Given the description of an element on the screen output the (x, y) to click on. 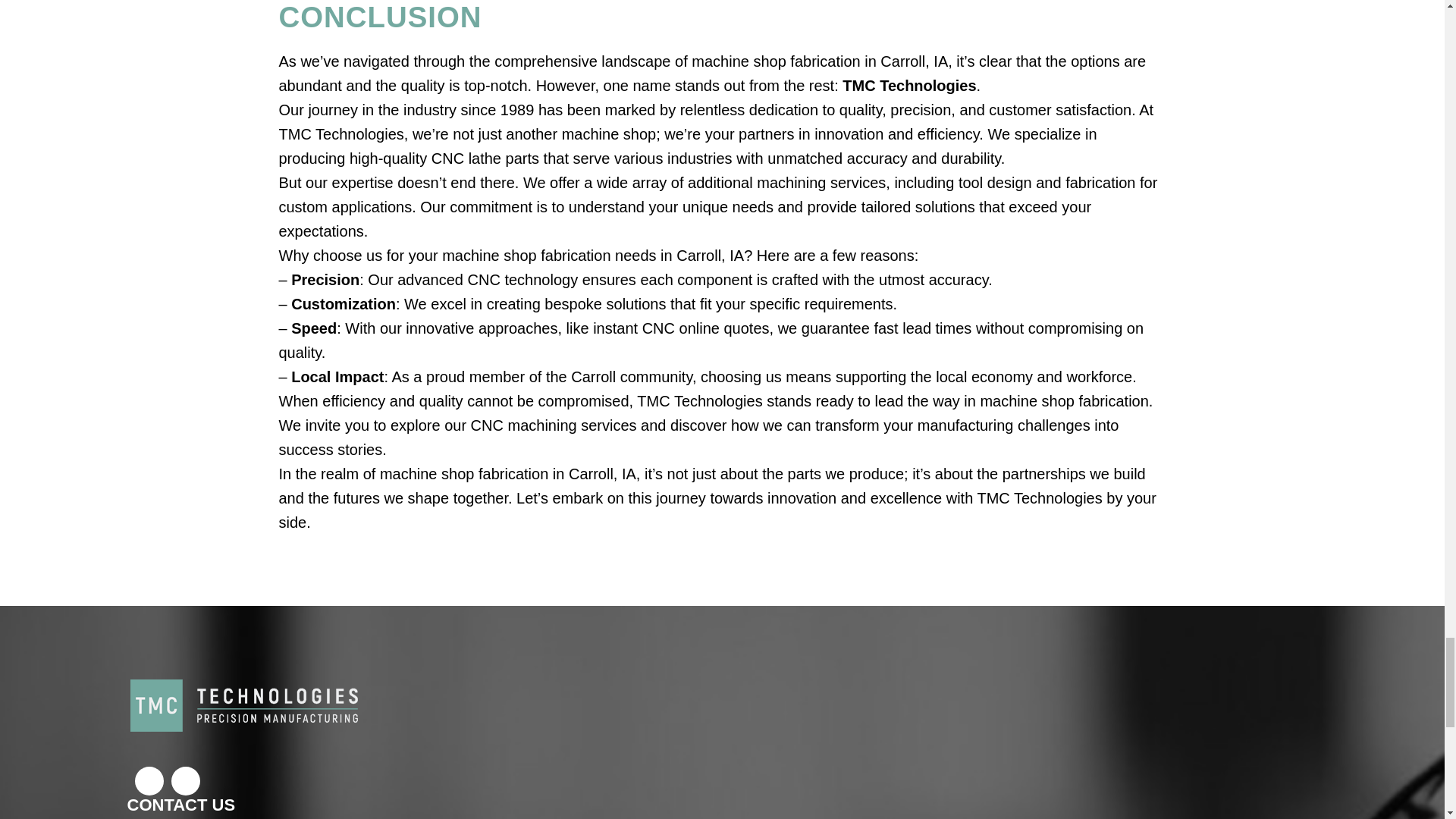
explore our CNC machining services (513, 425)
